Given the description of an element on the screen output the (x, y) to click on. 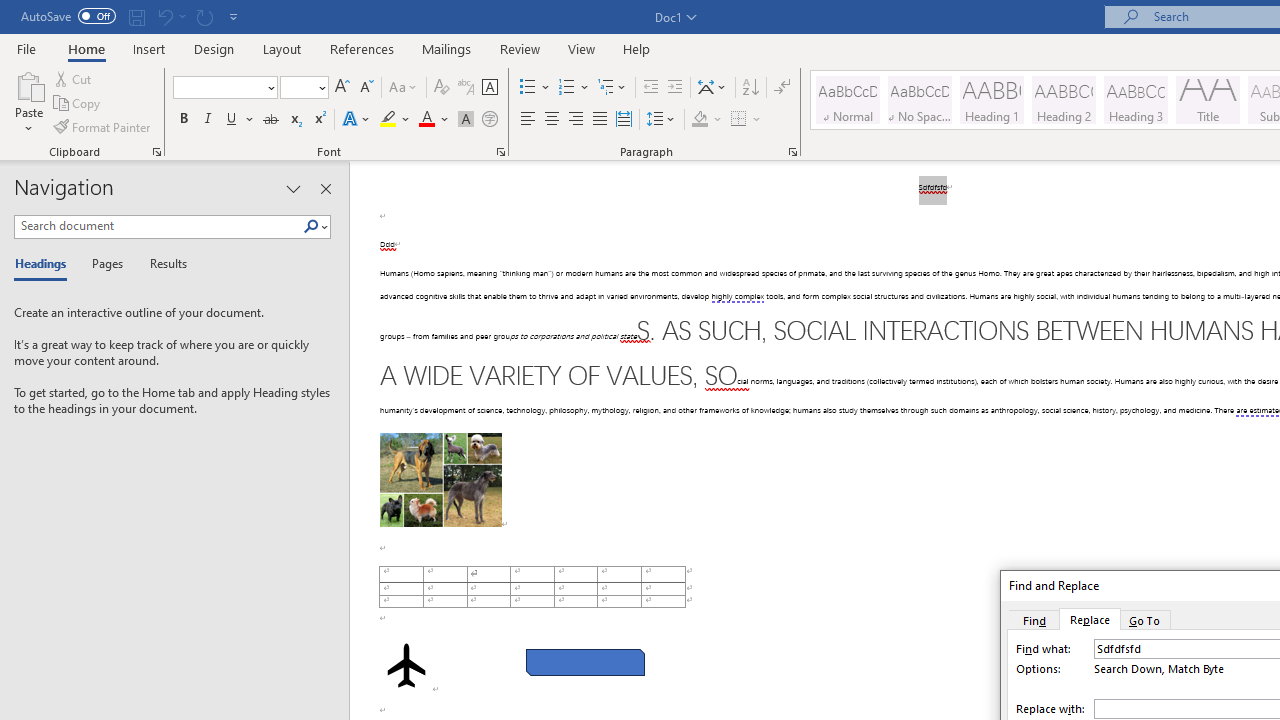
Strikethrough (270, 119)
Undo Paragraph Alignment (170, 15)
Paragraph... (792, 151)
Character Shading (465, 119)
Rectangle: Diagonal Corners Snipped 2 (585, 662)
Align Right (575, 119)
Subscript (294, 119)
Office Clipboard... (156, 151)
Airplane with solid fill (406, 665)
Heading 1 (991, 100)
